Given the description of an element on the screen output the (x, y) to click on. 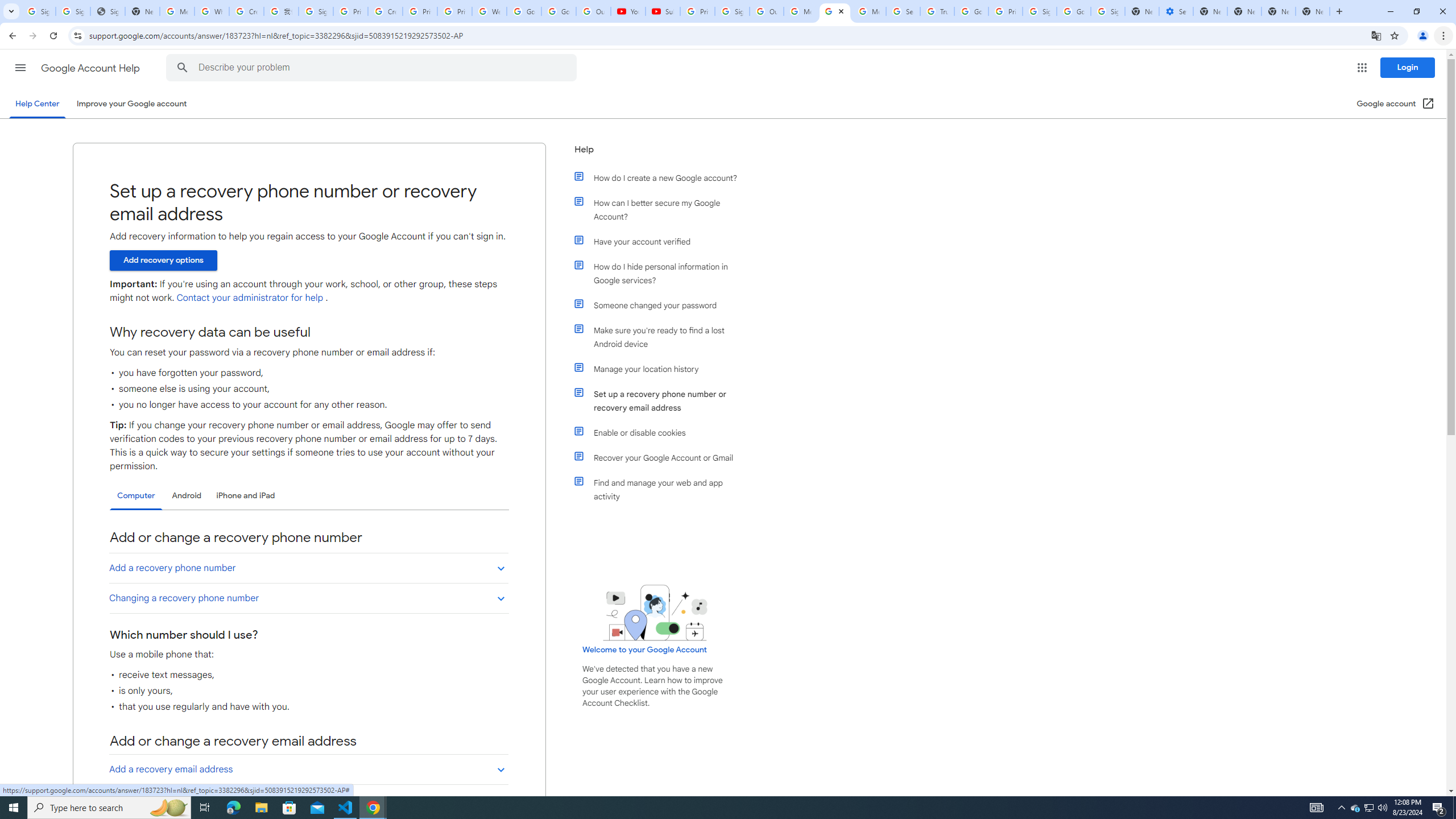
Create your Google Account (384, 11)
How do I create a new Google account? (661, 177)
Add recovery options (162, 260)
Subscriptions - YouTube (662, 11)
Google Account (Opens in new window) (1395, 103)
Make sure you're ready to find a lost Android device (661, 336)
Learning Center home page image (655, 612)
Sign in - Google Accounts (315, 11)
Help Center (36, 103)
Main menu (20, 67)
Google apps (1362, 67)
